Given the description of an element on the screen output the (x, y) to click on. 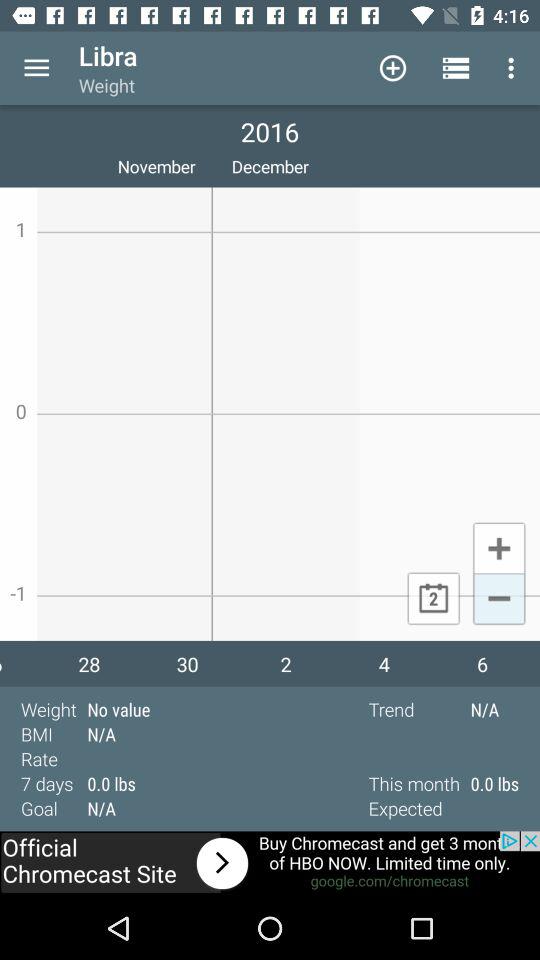
add things (498, 547)
